Given the description of an element on the screen output the (x, y) to click on. 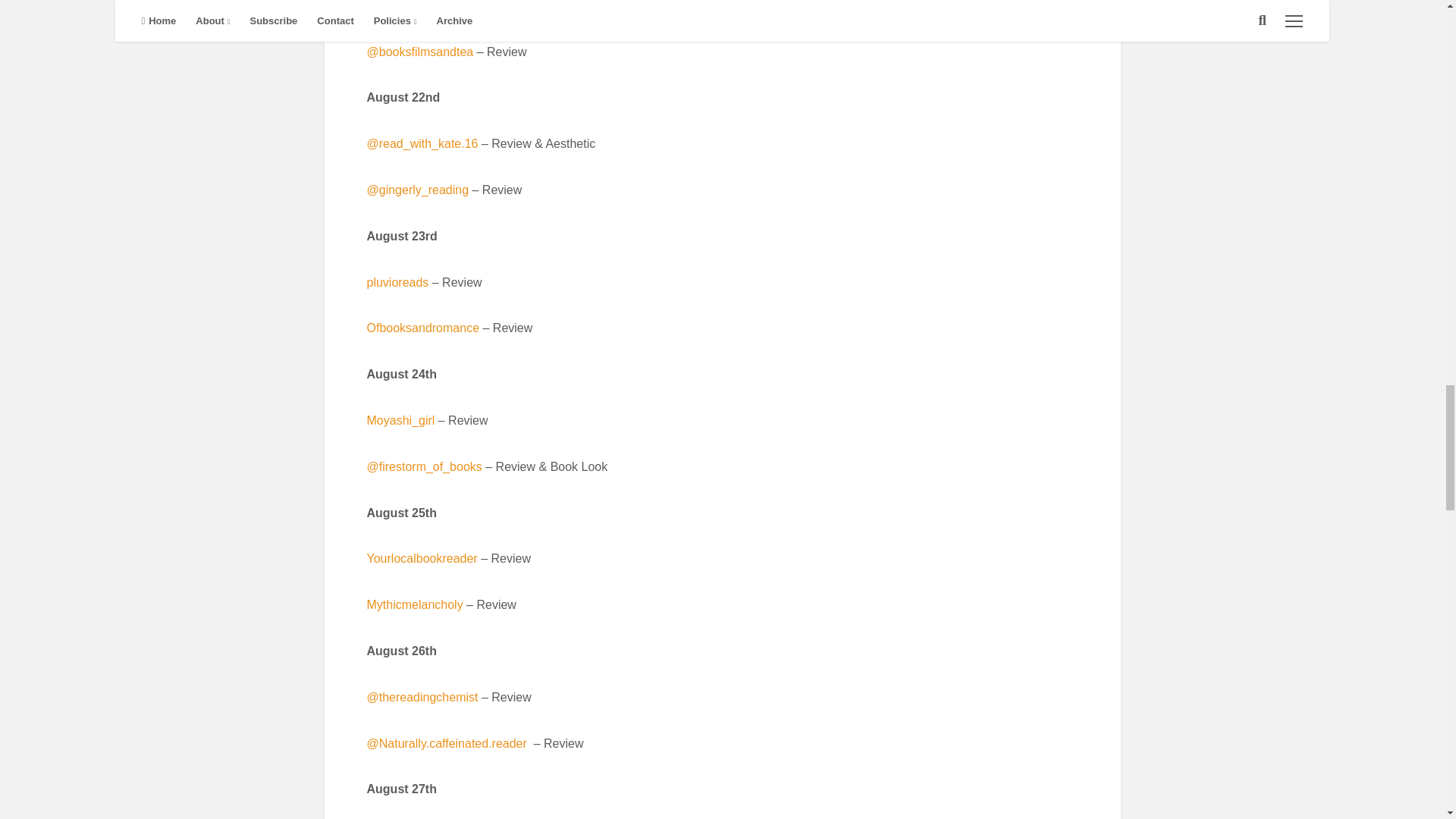
Ofbooksandromance (423, 327)
pluvioreads (397, 282)
Mythicmelancholy (414, 604)
Yourlocalbookreader (421, 558)
Utopia State of Mind (423, 6)
